Given the description of an element on the screen output the (x, y) to click on. 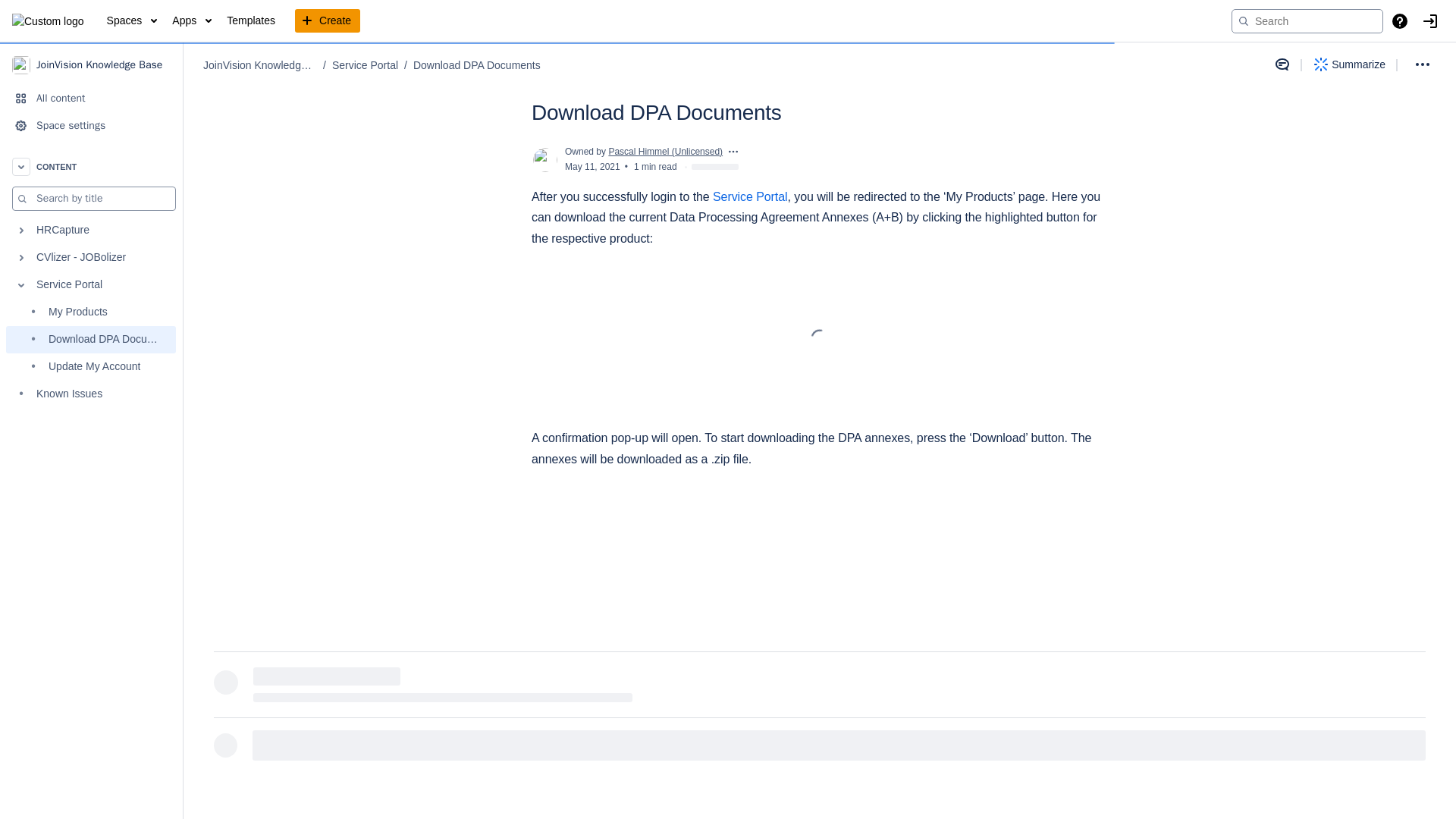
Spaces (131, 21)
Apps (191, 21)
CVlizer - JOBolizer (90, 257)
Create (327, 21)
Download DPA Documents (476, 64)
CONTENT (90, 166)
Service Portal (90, 284)
Summarize (1349, 64)
JoinVision Knowledge Base (90, 64)
Service Portal (750, 196)
